Given the description of an element on the screen output the (x, y) to click on. 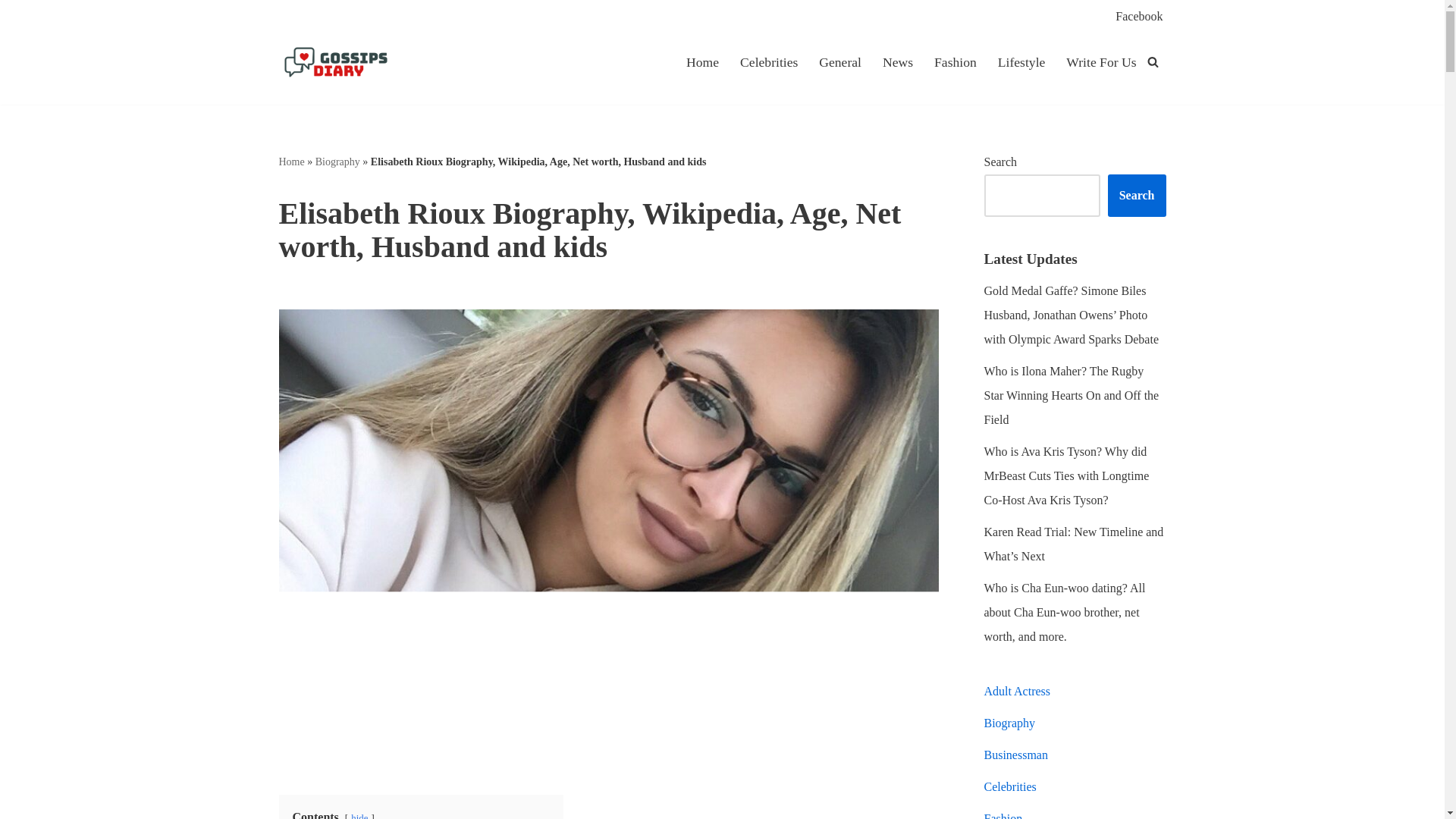
Lifestyle (1021, 61)
Home (291, 161)
Biography (337, 161)
Fashion (955, 61)
Skip to content (11, 31)
General (839, 61)
Facebook (1138, 15)
News (897, 61)
Home (702, 61)
Celebrities (768, 61)
